Given the description of an element on the screen output the (x, y) to click on. 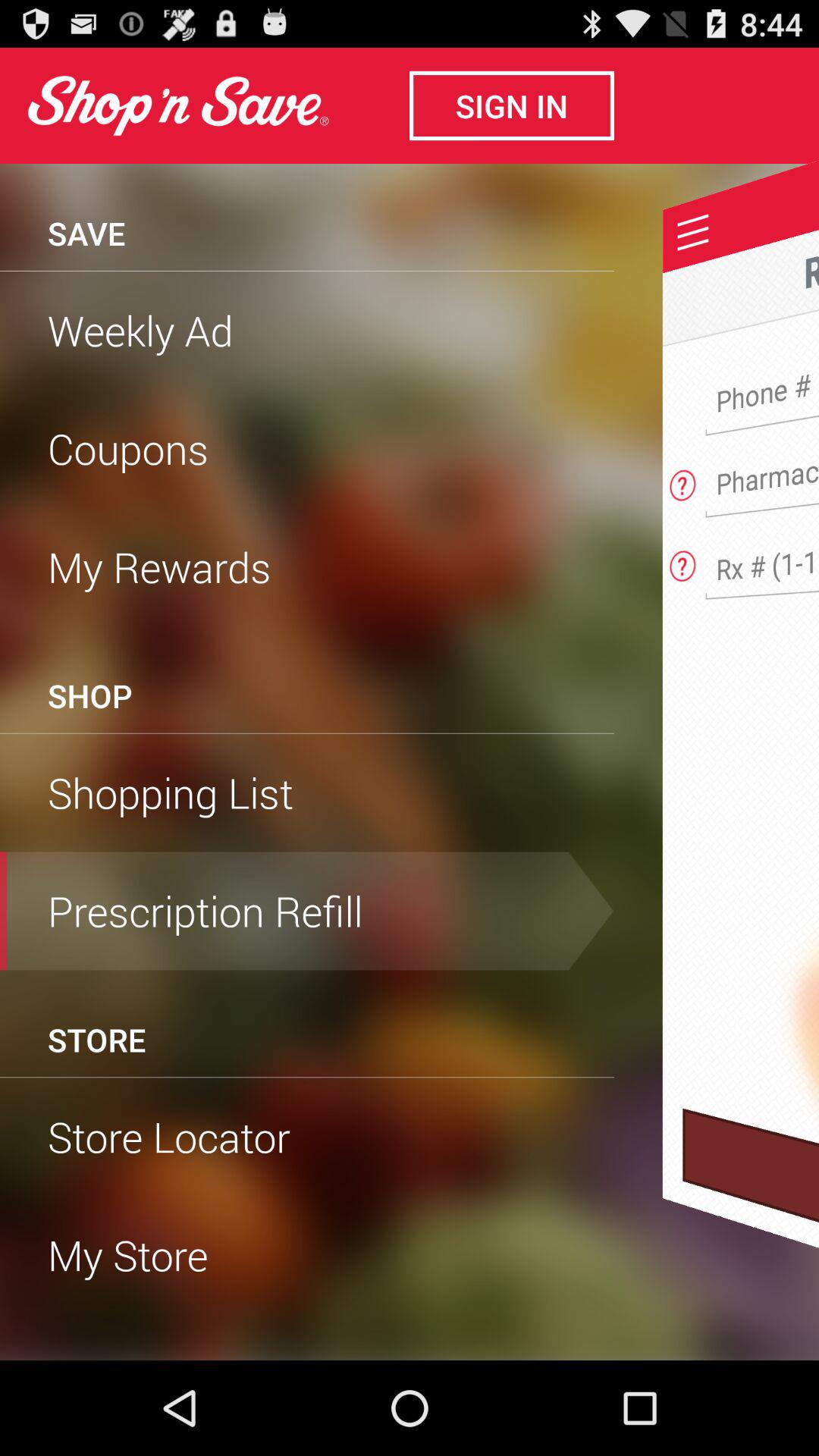
launch the item above shopping list item (307, 733)
